Given the description of an element on the screen output the (x, y) to click on. 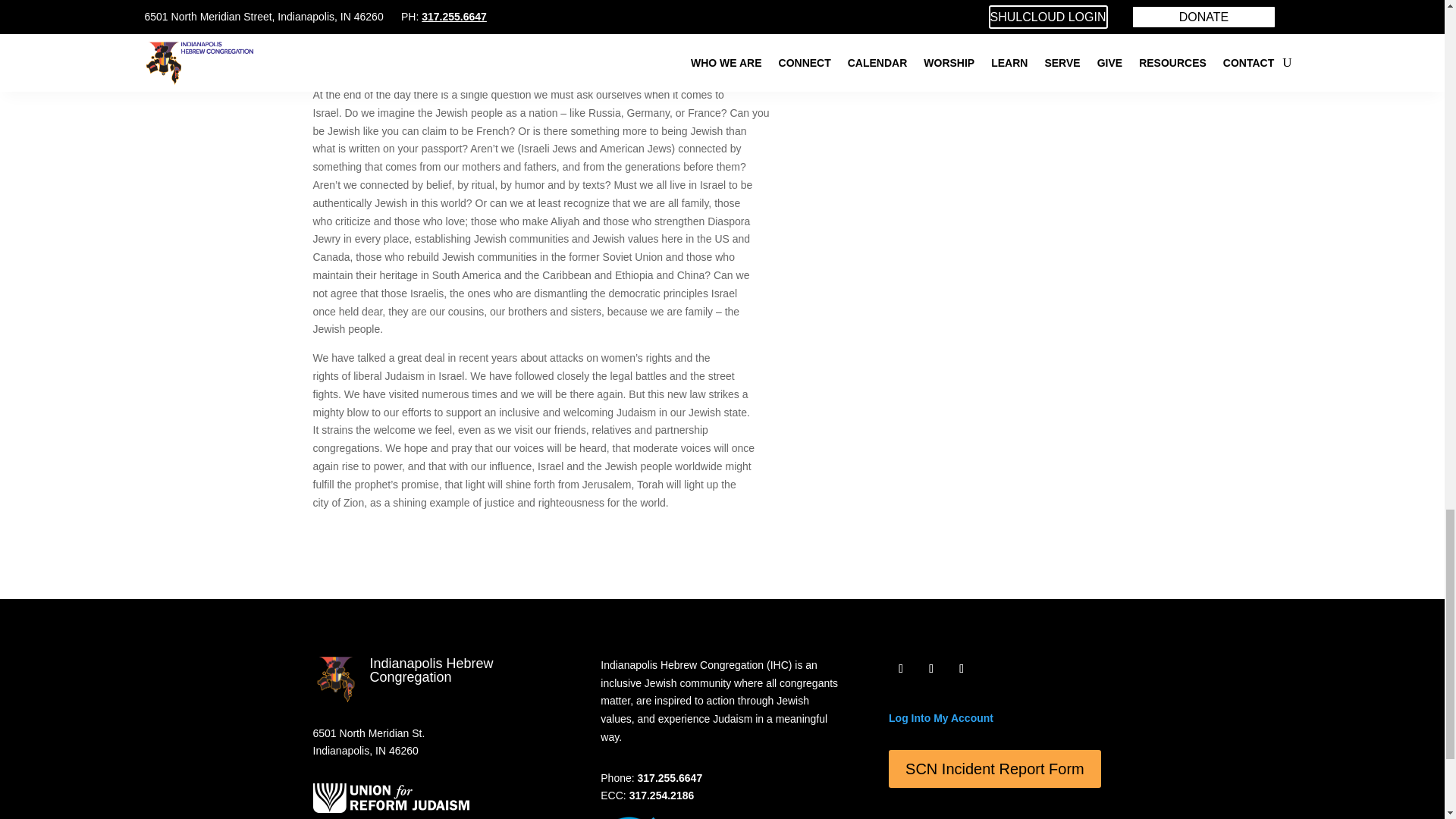
Follow on Facebook (900, 668)
Follow on Instagram (961, 668)
Follow on Youtube (930, 668)
URJ-Congregational-Ethics-transp-bg (659, 817)
